Given the description of an element on the screen output the (x, y) to click on. 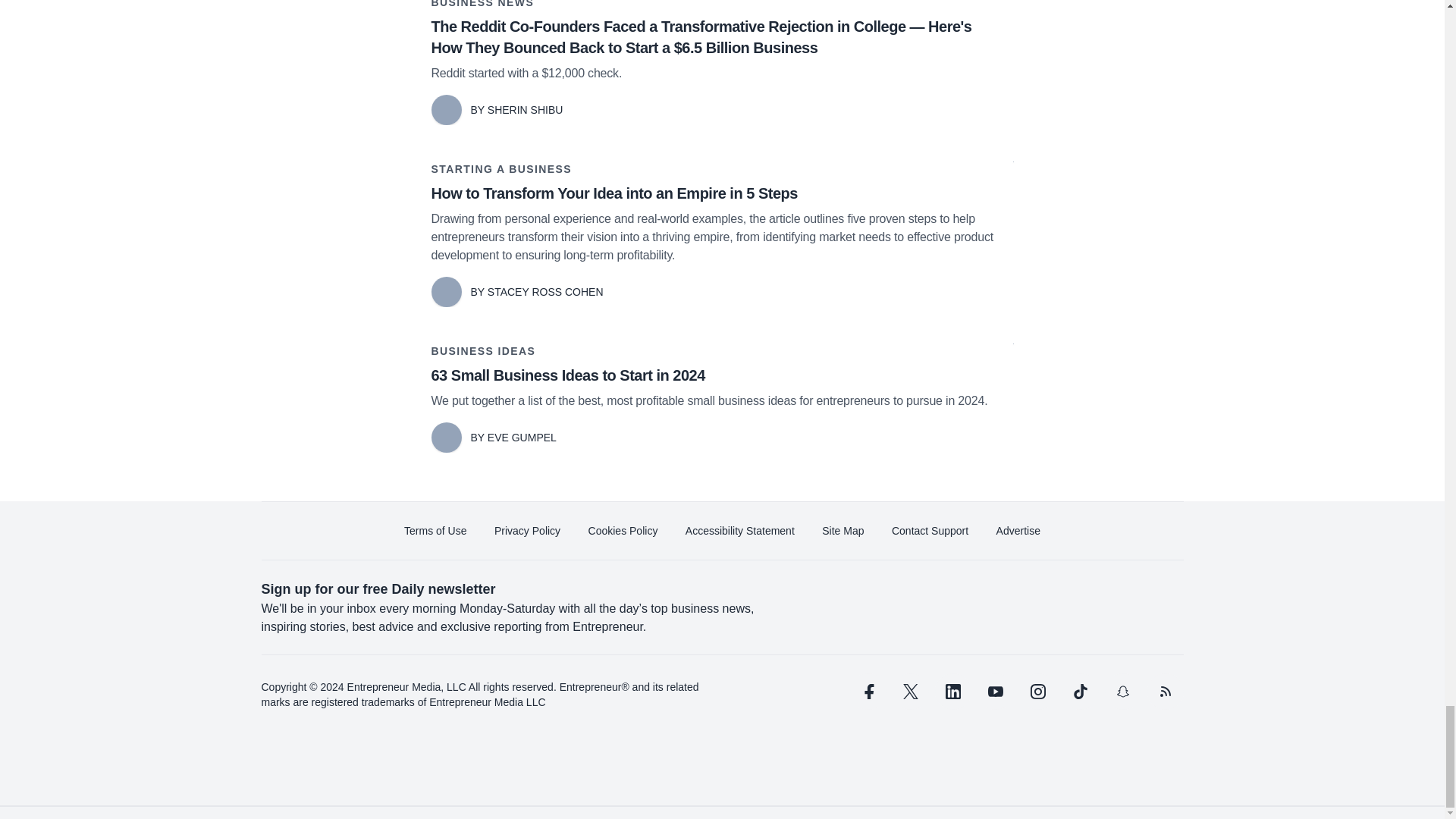
instagram (1037, 691)
snapchat (1121, 691)
youtube (994, 691)
linkedin (952, 691)
tiktok (1079, 691)
twitter (909, 691)
facebook (866, 691)
